Given the description of an element on the screen output the (x, y) to click on. 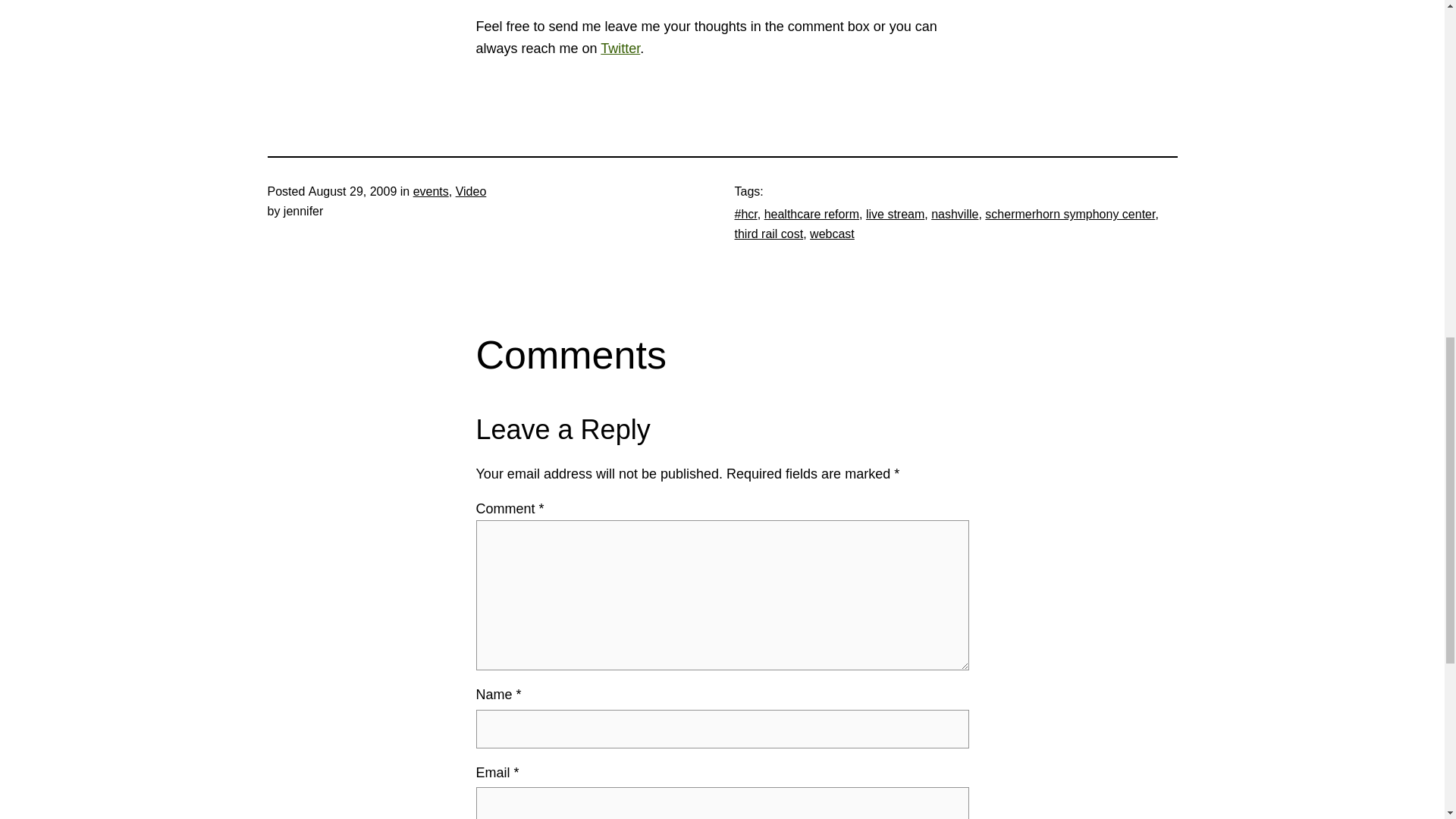
live stream (895, 214)
third rail cost (768, 233)
webcast (831, 233)
Video (470, 191)
nashville (954, 214)
events (430, 191)
schermerhorn symphony center (1069, 214)
healthcare reform (811, 214)
Twitter (619, 48)
Jennifer Navarrete on Twitter (619, 48)
